Given the description of an element on the screen output the (x, y) to click on. 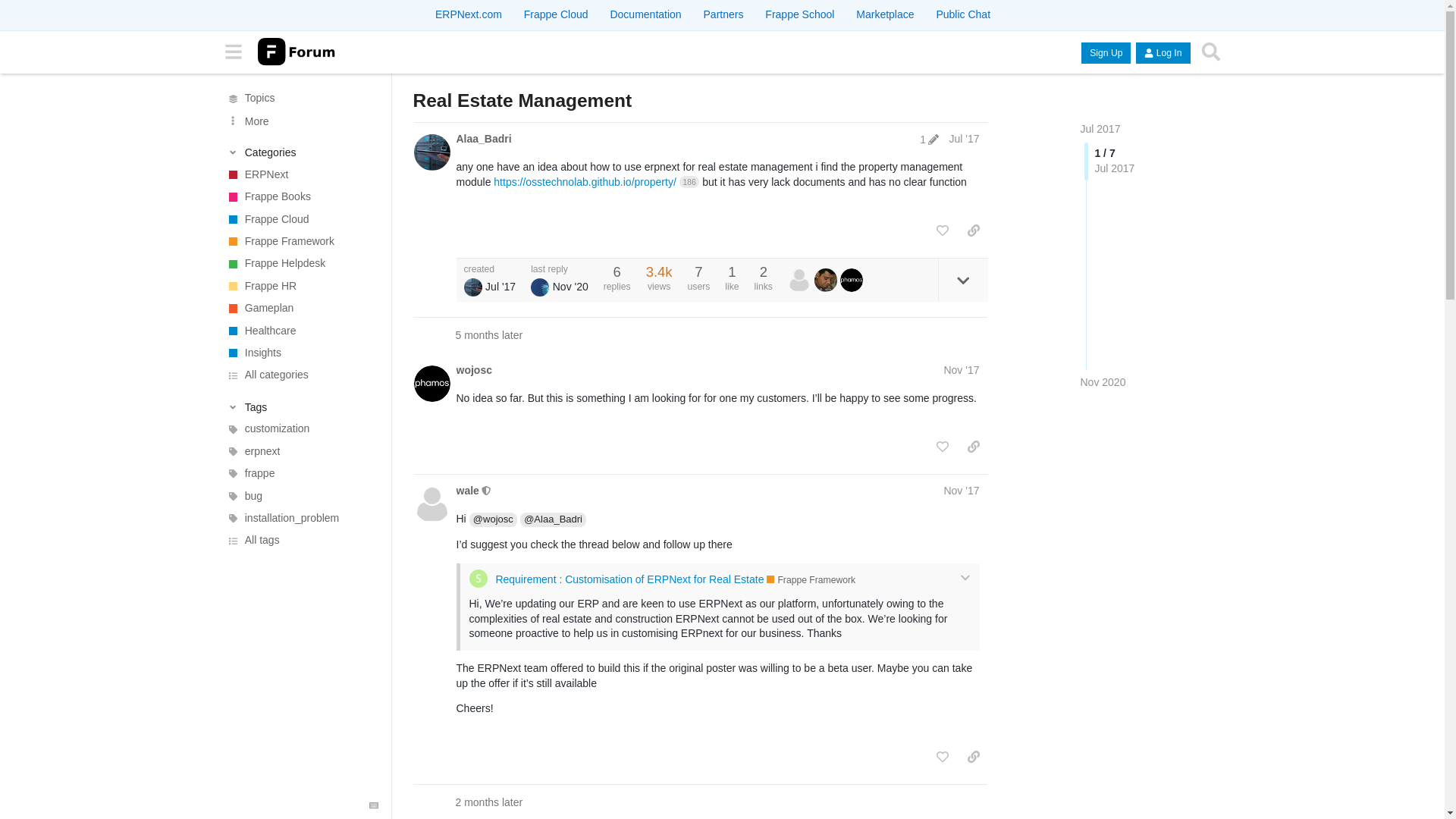
All topics (300, 97)
Frappe Framework (300, 241)
bug (300, 495)
Toggle section (301, 151)
Healthcare (300, 331)
Log In (1162, 52)
Frappe Books (300, 196)
frappe (300, 473)
customization (300, 428)
Public Chat (963, 14)
Toggle section (301, 406)
Documentation (645, 14)
erpnext (300, 451)
Categories (301, 151)
